Given the description of an element on the screen output the (x, y) to click on. 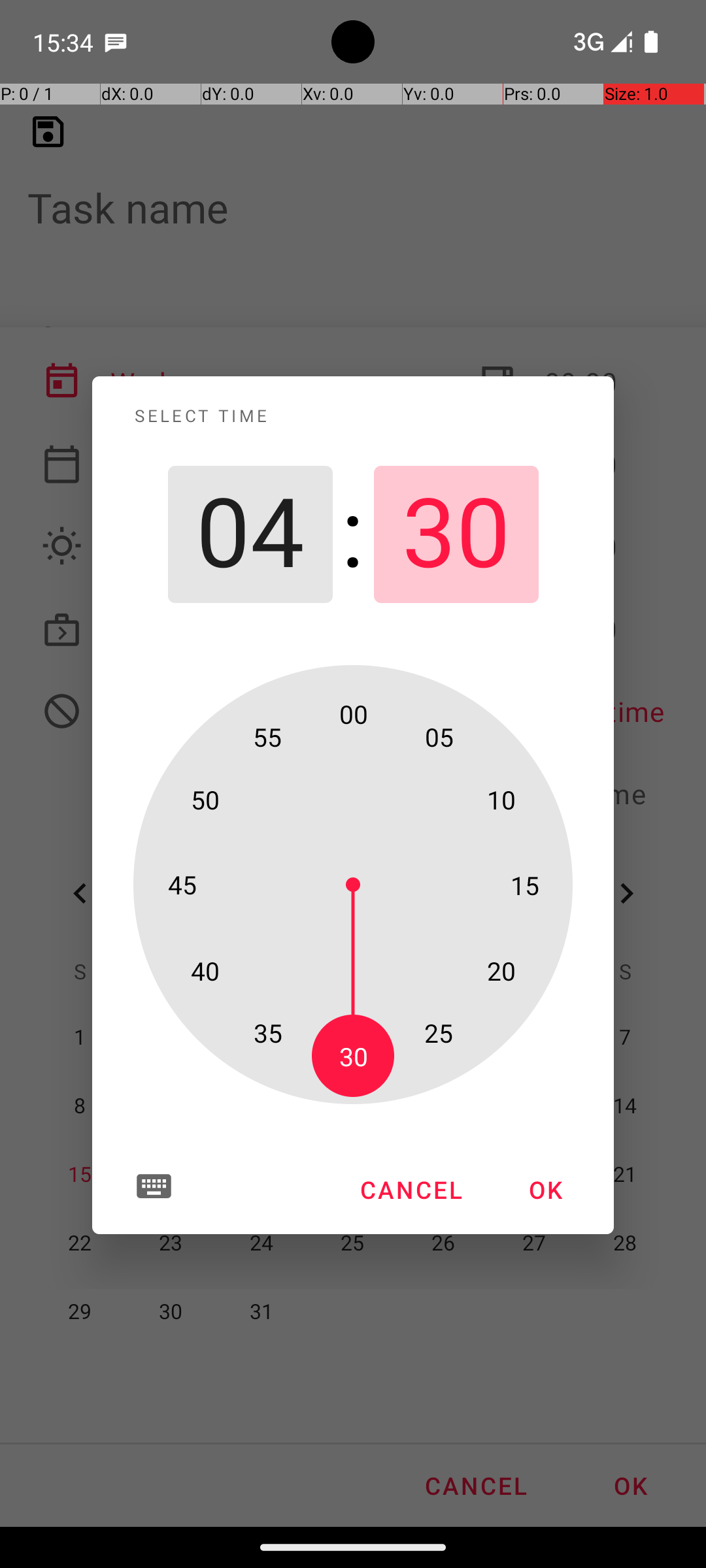
04 Element type: android.view.View (250, 534)
